Given the description of an element on the screen output the (x, y) to click on. 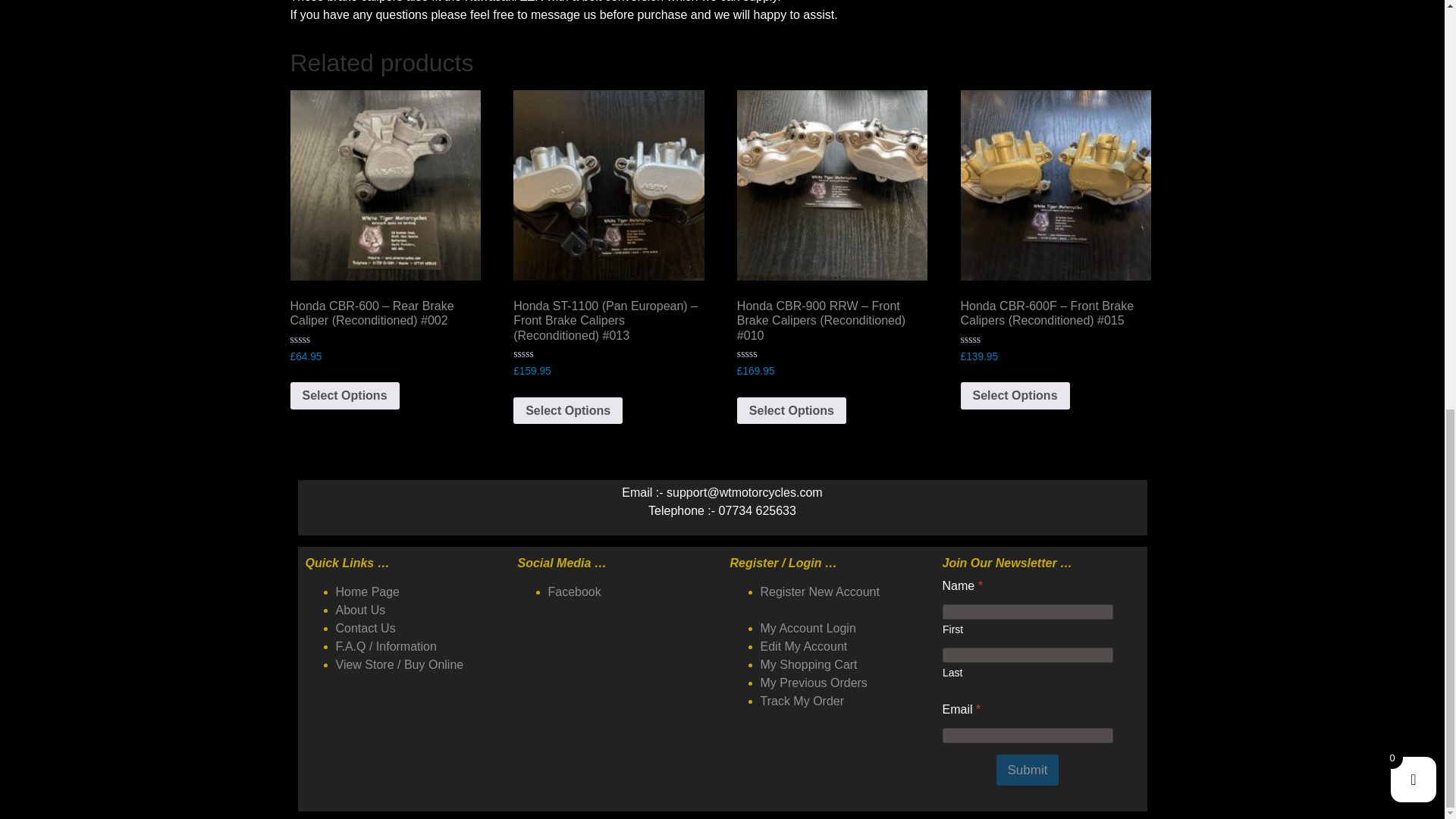
Edit My Account (803, 645)
Select Options (1015, 395)
My Account Login (808, 627)
Contact Us (364, 627)
Select Options (568, 411)
Facebook (573, 591)
Select Options (790, 411)
Register New Account (819, 591)
Select Options (343, 395)
Home Page (366, 591)
About Us (359, 609)
